Given the description of an element on the screen output the (x, y) to click on. 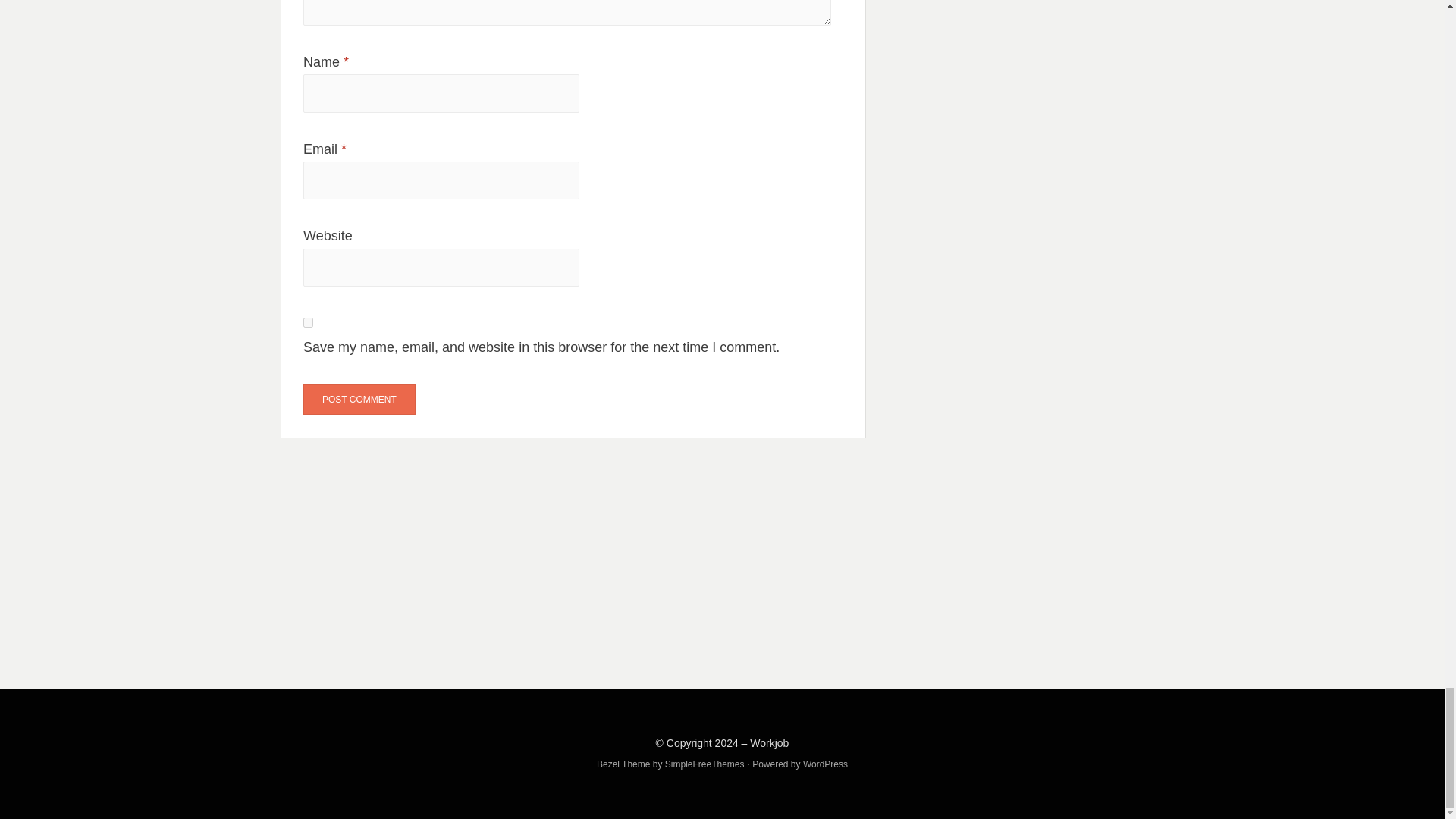
yes (307, 322)
WordPress (825, 764)
SimpleFreeThemes (704, 764)
Post Comment (358, 399)
Post Comment (358, 399)
